Given the description of an element on the screen output the (x, y) to click on. 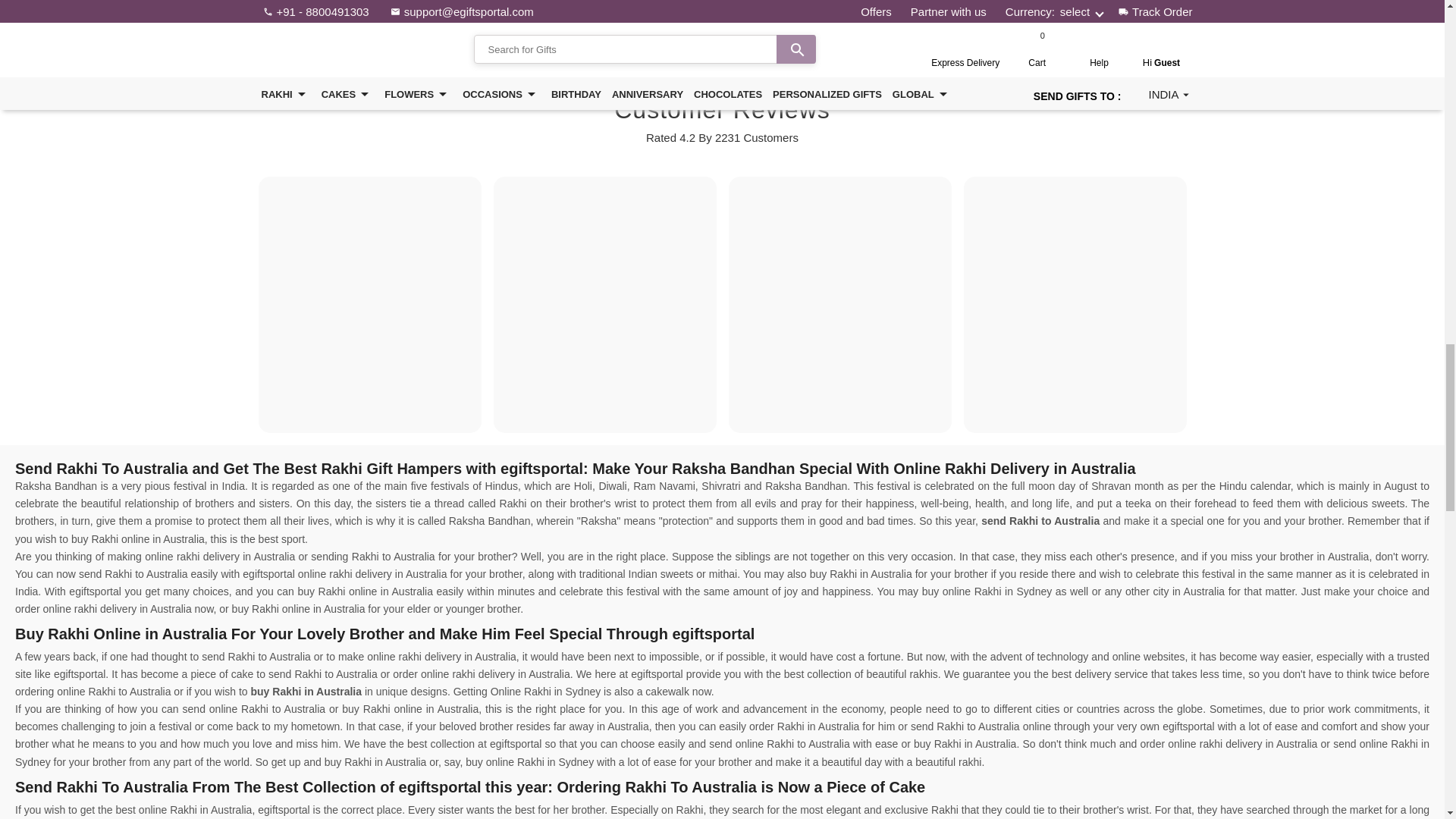
Rakhi To India (491, 23)
Rakhi To Canada (673, 23)
Rakhi To USA (582, 23)
Rakhi To UK (855, 23)
Rakhi To Germany (949, 23)
Rakhi To UAE (764, 23)
